Given the description of an element on the screen output the (x, y) to click on. 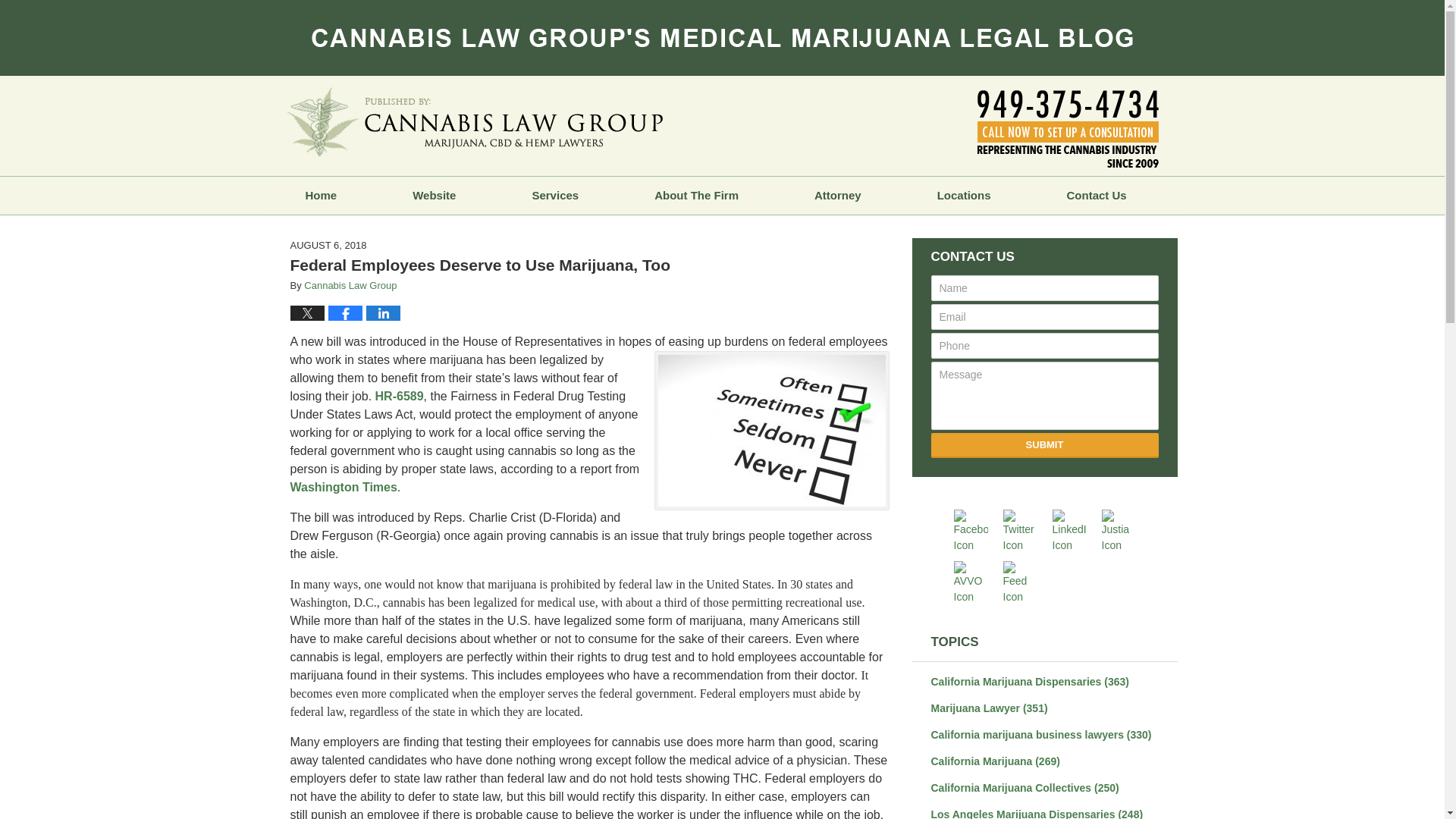
Feed (1022, 583)
Home (320, 195)
Please enter a valid phone number. (1044, 345)
Attorney (837, 195)
LinkedIn (1072, 531)
AVVO (972, 583)
Services (554, 195)
Cannabis Law Group (350, 285)
Contact Us (1096, 195)
Website (433, 195)
